Given the description of an element on the screen output the (x, y) to click on. 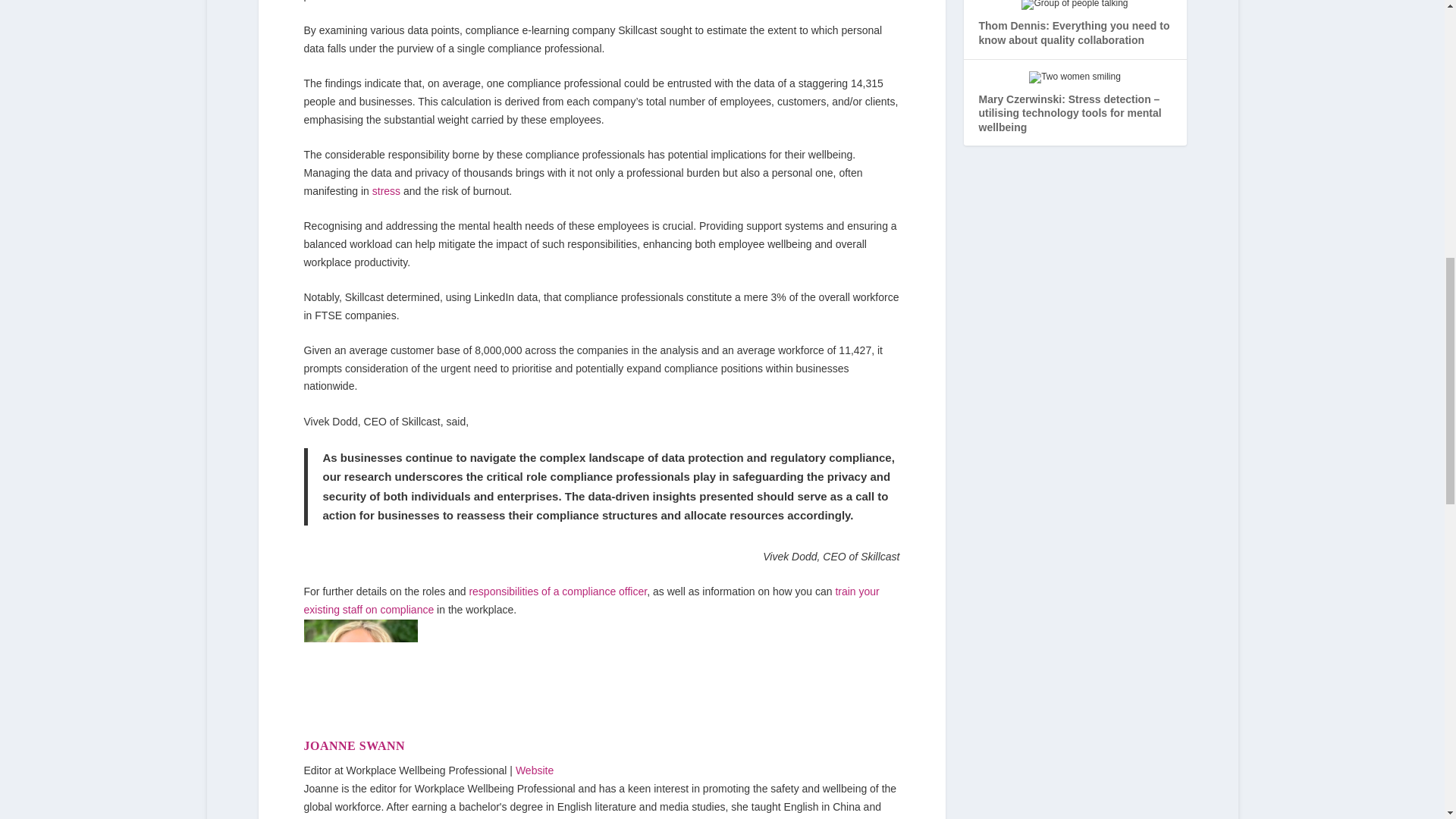
JOANNE SWANN (353, 745)
stress (386, 191)
Website (534, 770)
responsibilities of a compliance officer (557, 591)
train your existing staff on compliance (590, 600)
Stress at Work: The Ultimate Guide for Managers (386, 191)
